Given the description of an element on the screen output the (x, y) to click on. 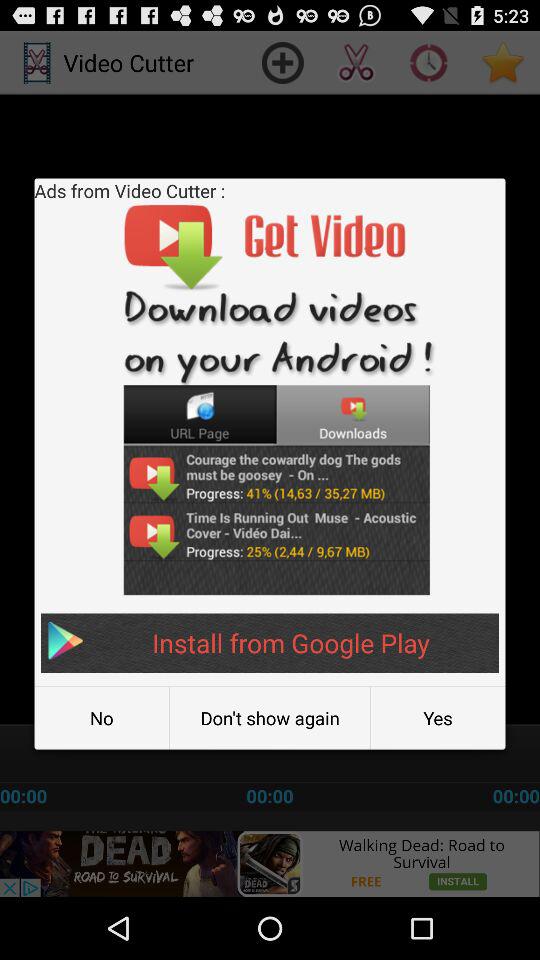
press the install from google (269, 642)
